Given the description of an element on the screen output the (x, y) to click on. 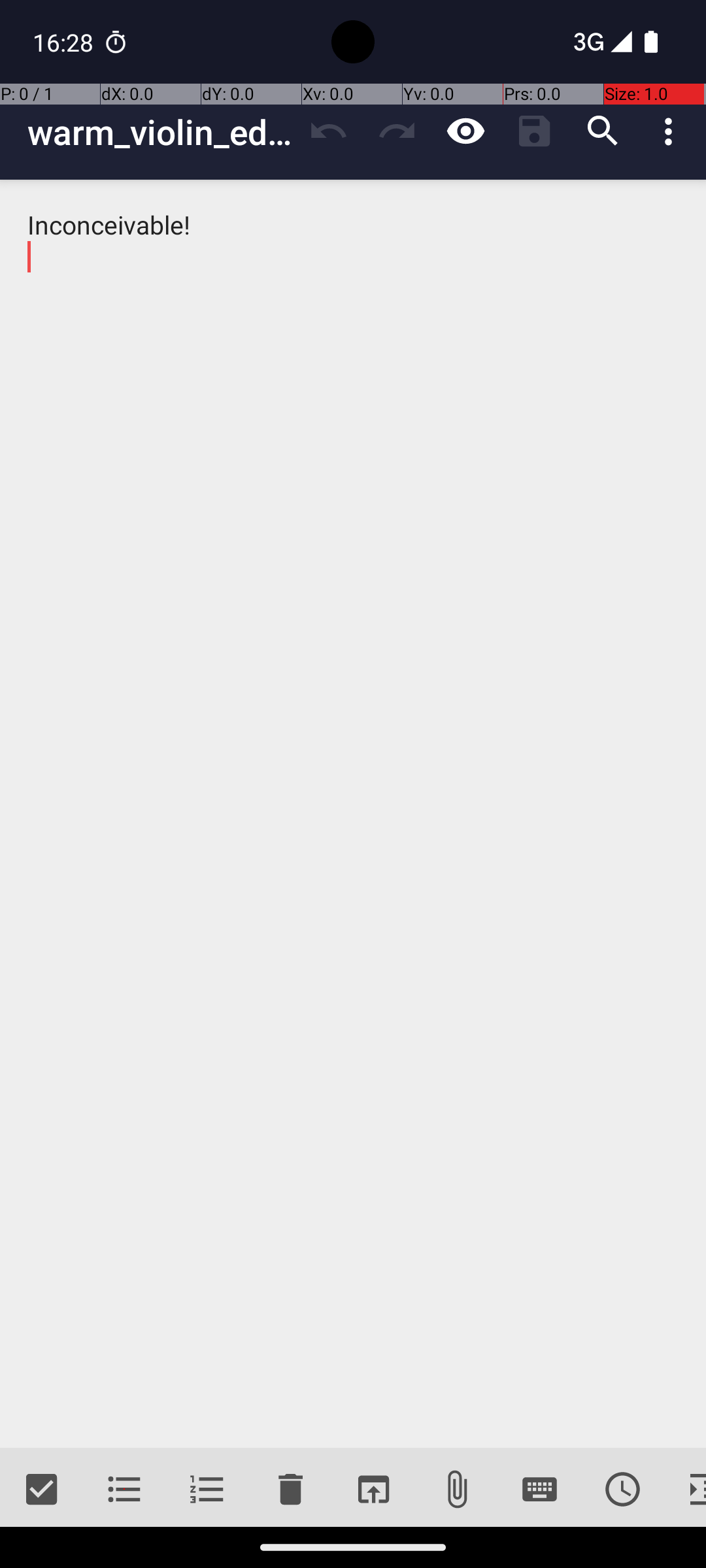
warm_violin_edited Element type: android.widget.TextView (160, 131)
Inconceivable!
 Element type: android.widget.EditText (353, 813)
16:28 Element type: android.widget.TextView (64, 41)
